Given the description of an element on the screen output the (x, y) to click on. 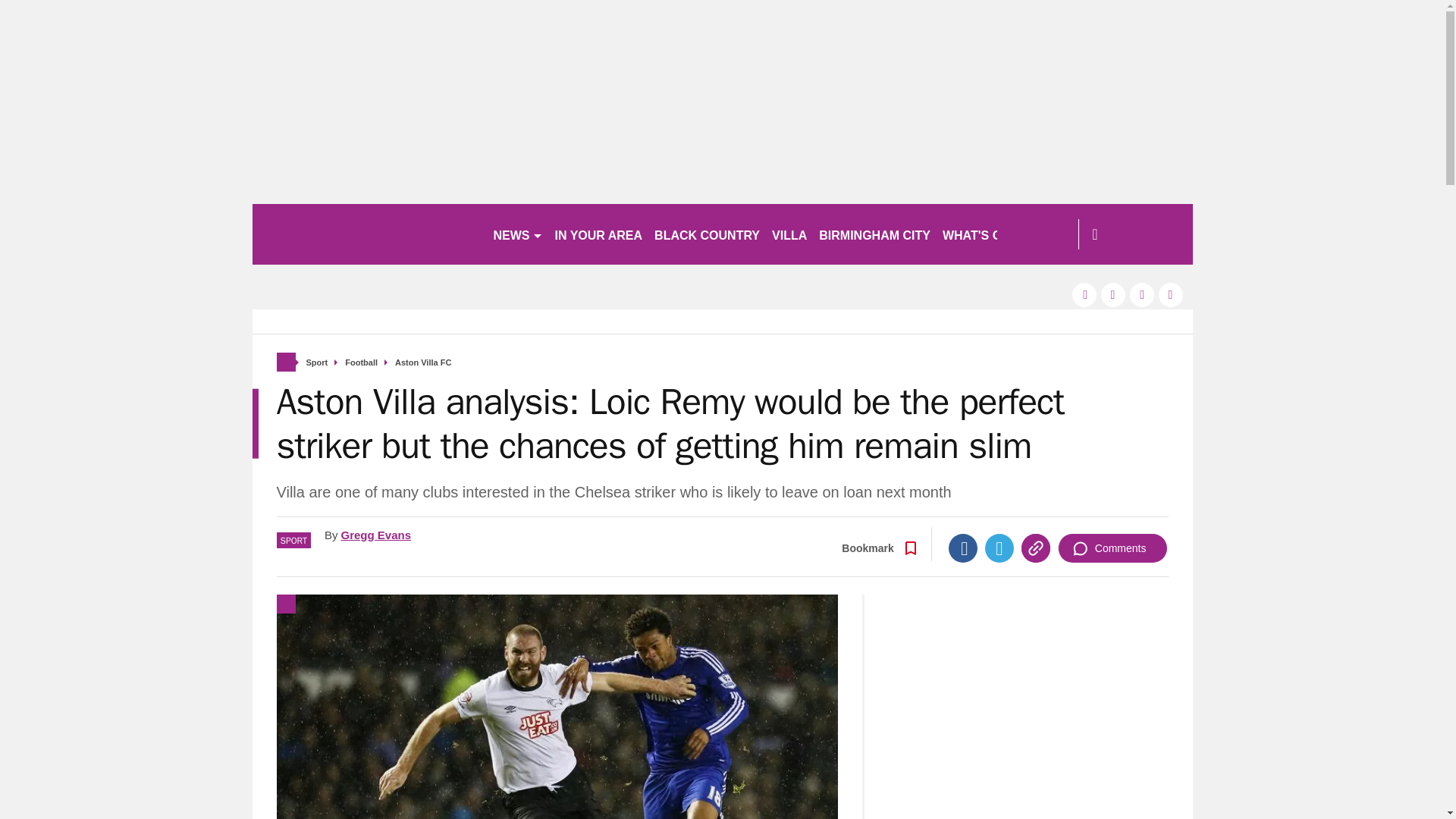
BLACK COUNTRY (706, 233)
NEWS (517, 233)
Facebook (962, 547)
Comments (1112, 547)
facebook (1083, 294)
IN YOUR AREA (598, 233)
tiktok (1141, 294)
twitter (1112, 294)
Twitter (999, 547)
WHAT'S ON (982, 233)
birminghammail (365, 233)
BIRMINGHAM CITY (874, 233)
instagram (1170, 294)
